Given the description of an element on the screen output the (x, y) to click on. 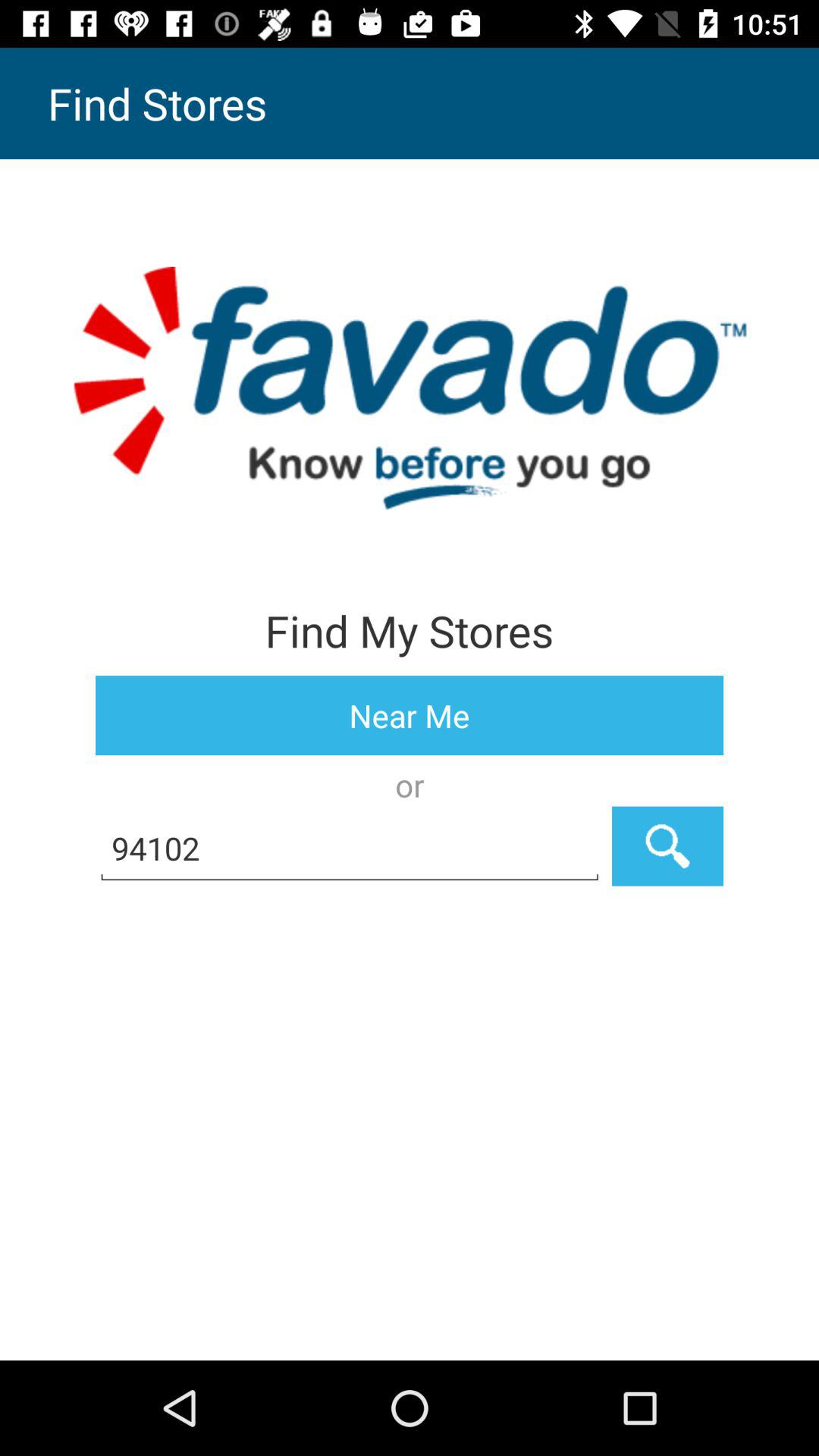
turn on item to the right of the 94102 icon (667, 846)
